Given the description of an element on the screen output the (x, y) to click on. 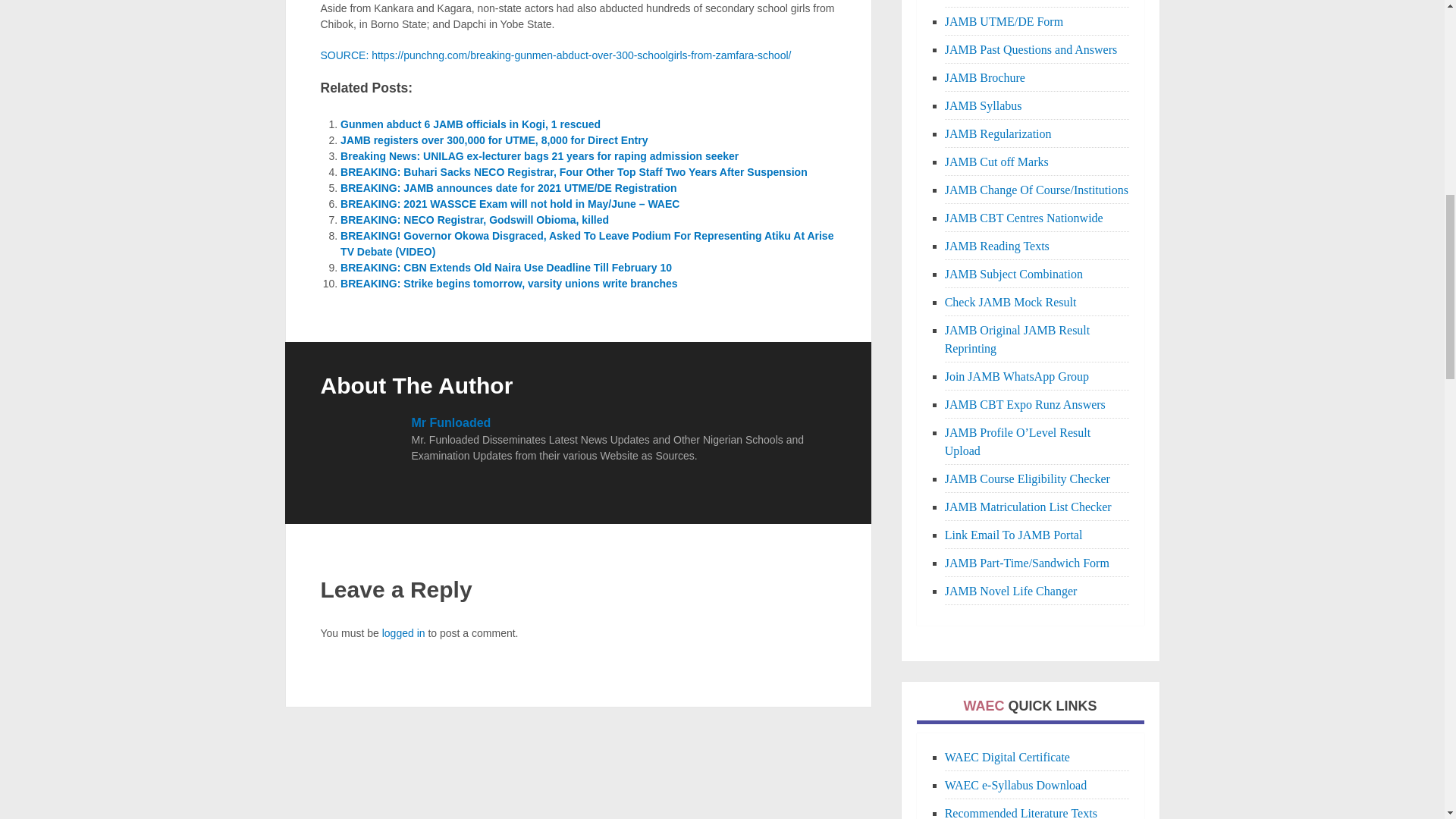
BREAKING: NECO Registrar, Godswill Obioma, killed (474, 219)
Gunmen abduct 6 JAMB officials in Kogi, 1 rescued (469, 123)
JAMB registers over 300,000 for UTME, 8,000 for Direct Entry (493, 140)
